Given the description of an element on the screen output the (x, y) to click on. 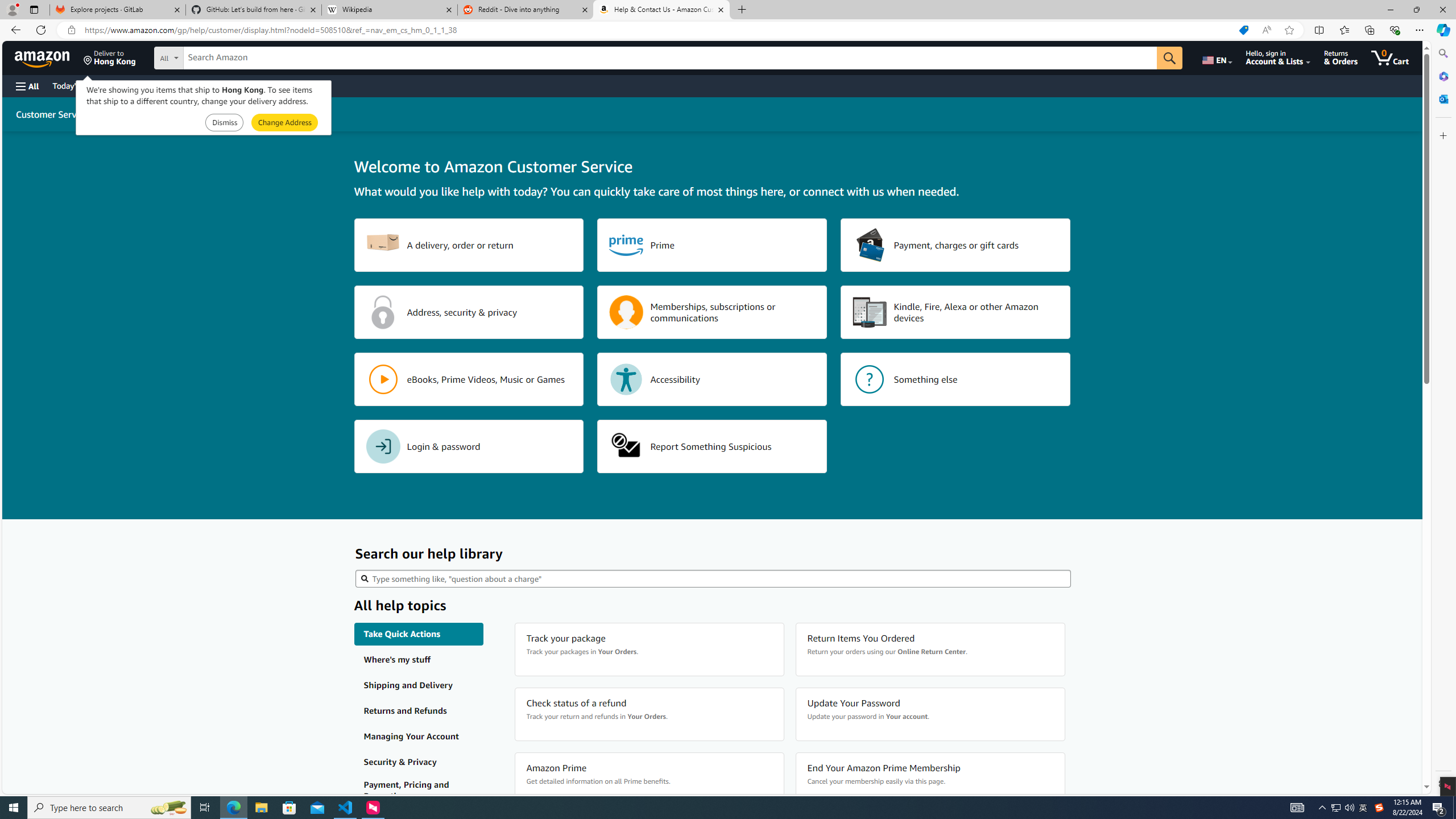
Update Your Password Update your password in Your account. (929, 714)
Open Menu (26, 86)
Kindle, Fire, Alexa or other Amazon devices (955, 312)
Accessibility (711, 379)
Track your package Track your packages in Your Orders. (648, 649)
Today's Deals (76, 85)
Go (1169, 57)
Address, security & privacy (468, 312)
Search Amazon (670, 57)
Sell (290, 85)
Amazon Prime Get detailed information on all Prime benefits. (648, 778)
